Given the description of an element on the screen output the (x, y) to click on. 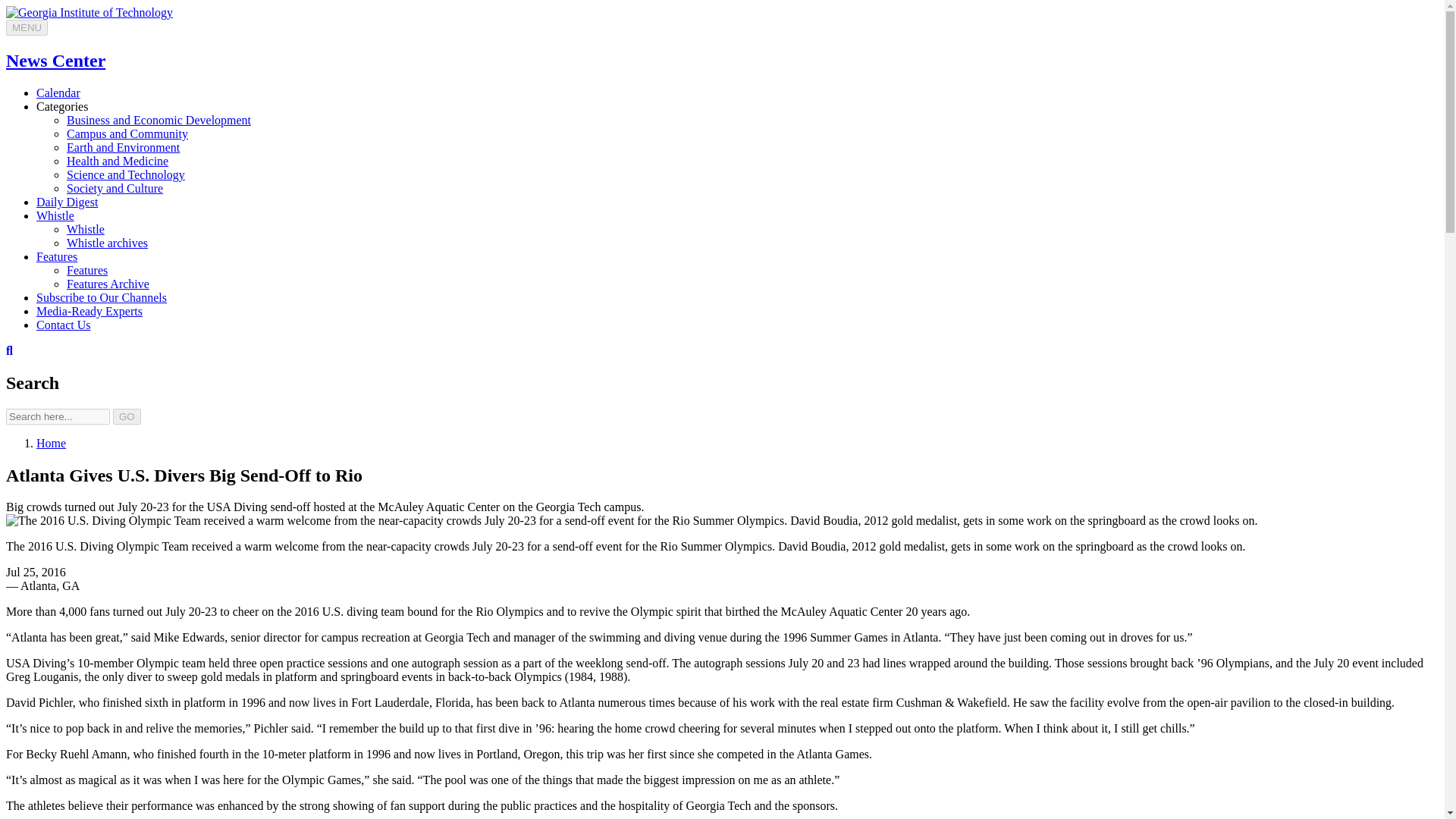
Features (86, 269)
Whistle archives (107, 242)
Calendar (58, 92)
GO (127, 416)
News Center (54, 60)
Earth and environment (122, 146)
Georgia Institute of Technology (89, 11)
Features (56, 256)
Features Archive (107, 283)
GO (127, 416)
Contact Us (63, 324)
MENU (26, 27)
Home (50, 442)
